Given the description of an element on the screen output the (x, y) to click on. 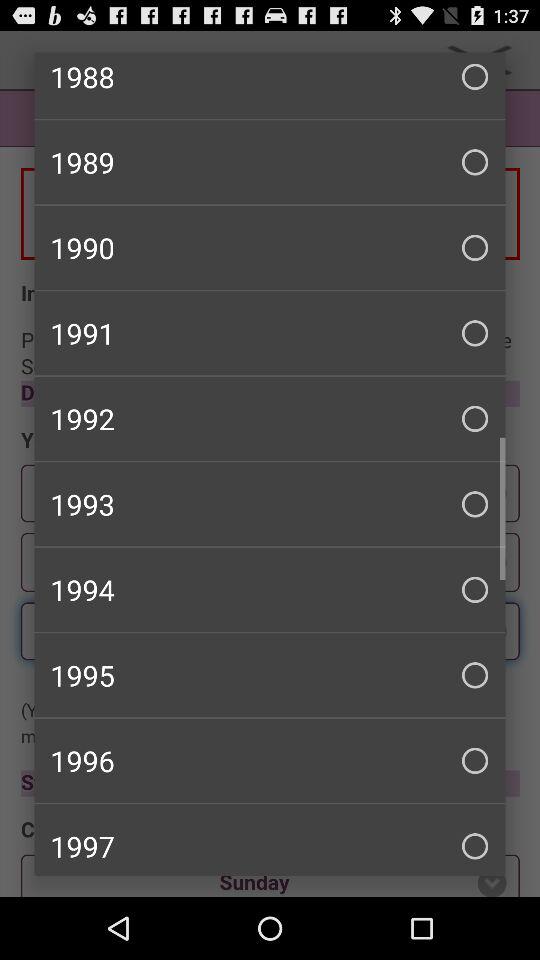
choose 1988 (269, 85)
